Given the description of an element on the screen output the (x, y) to click on. 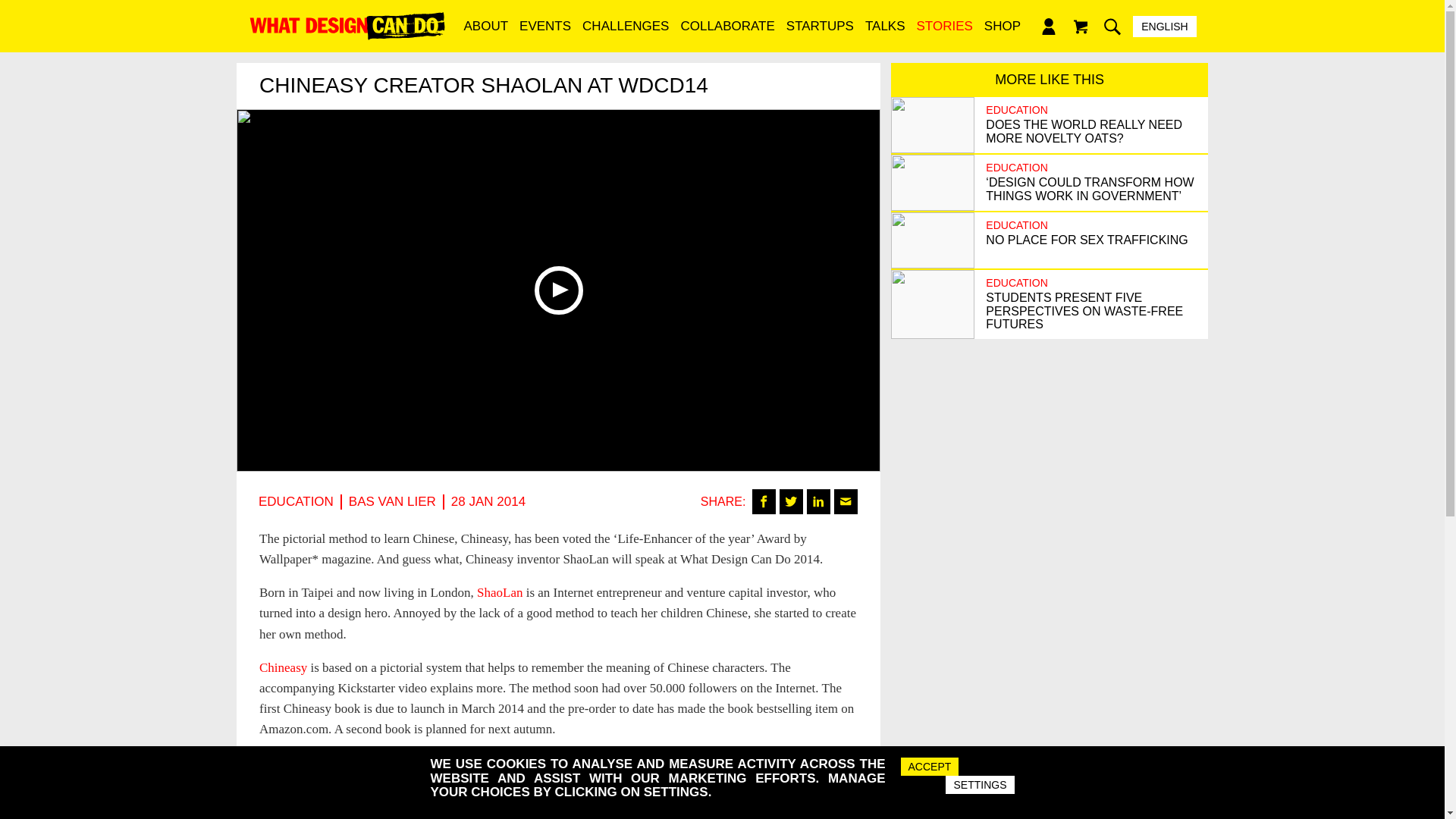
SHOP (1002, 33)
TALKS (885, 33)
STORIES (944, 33)
COLLABORATE (727, 33)
ABOUT (485, 33)
EVENTS (544, 33)
CHALLENGES (625, 33)
STARTUPS (819, 33)
ENGLISH (1164, 25)
